Given the description of an element on the screen output the (x, y) to click on. 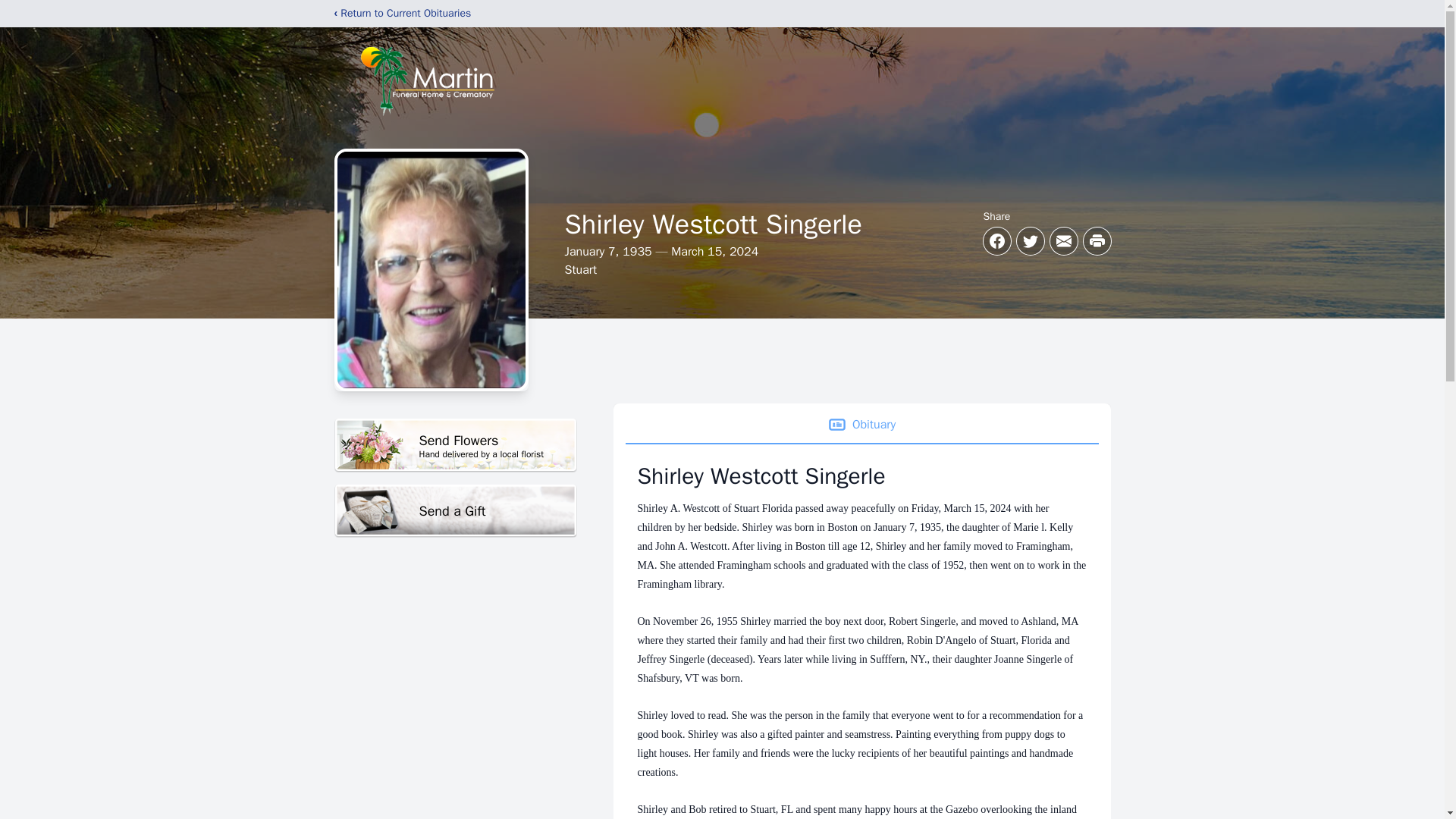
Send a Gift (454, 511)
Obituary (454, 445)
